Given the description of an element on the screen output the (x, y) to click on. 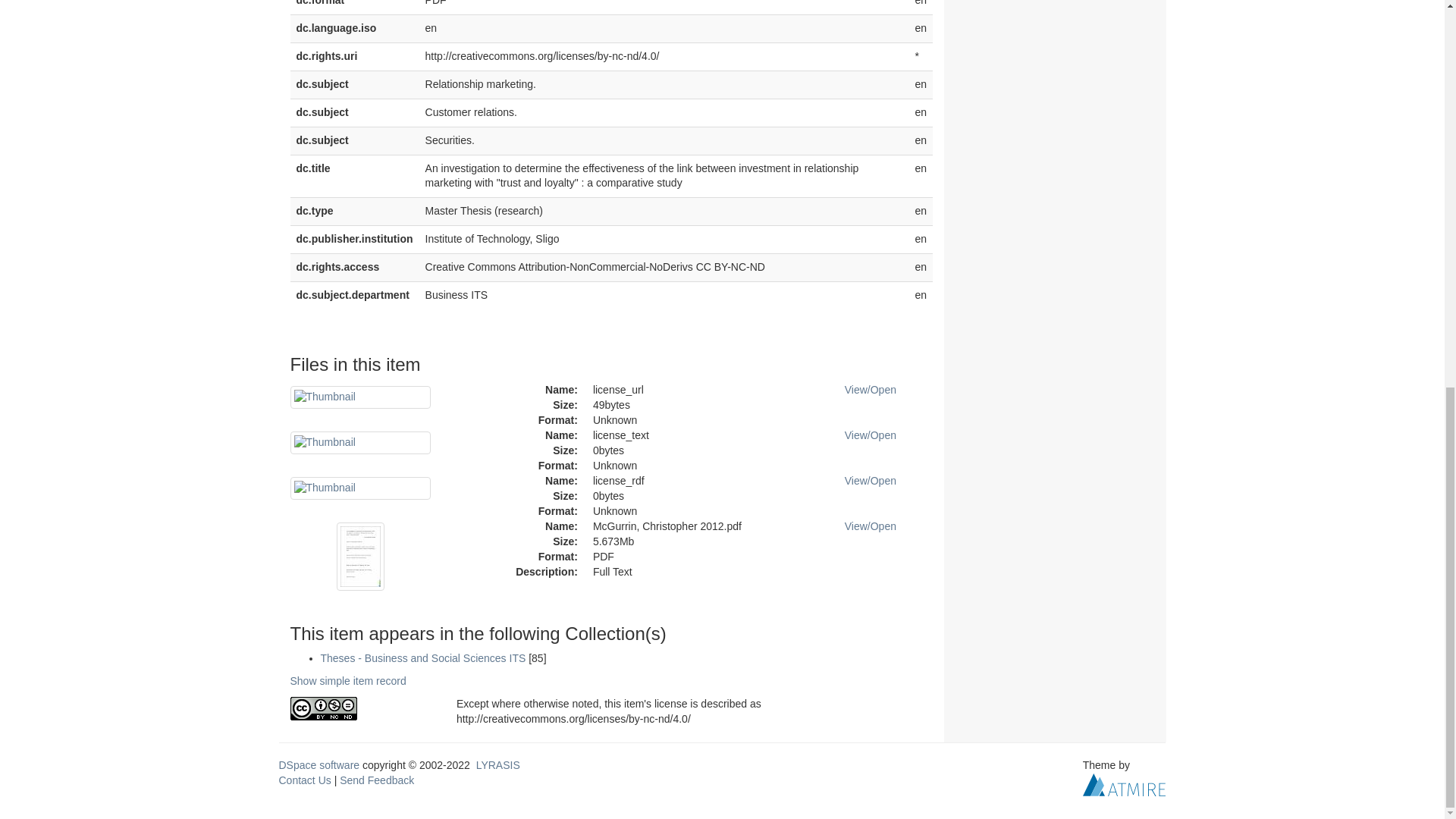
McGurrin, Christopher 2012.pdf (707, 526)
Full Text (707, 572)
Show simple item record (347, 680)
Theses - Business and Social Sciences ITS (422, 657)
Atmire NV (1124, 784)
